Given the description of an element on the screen output the (x, y) to click on. 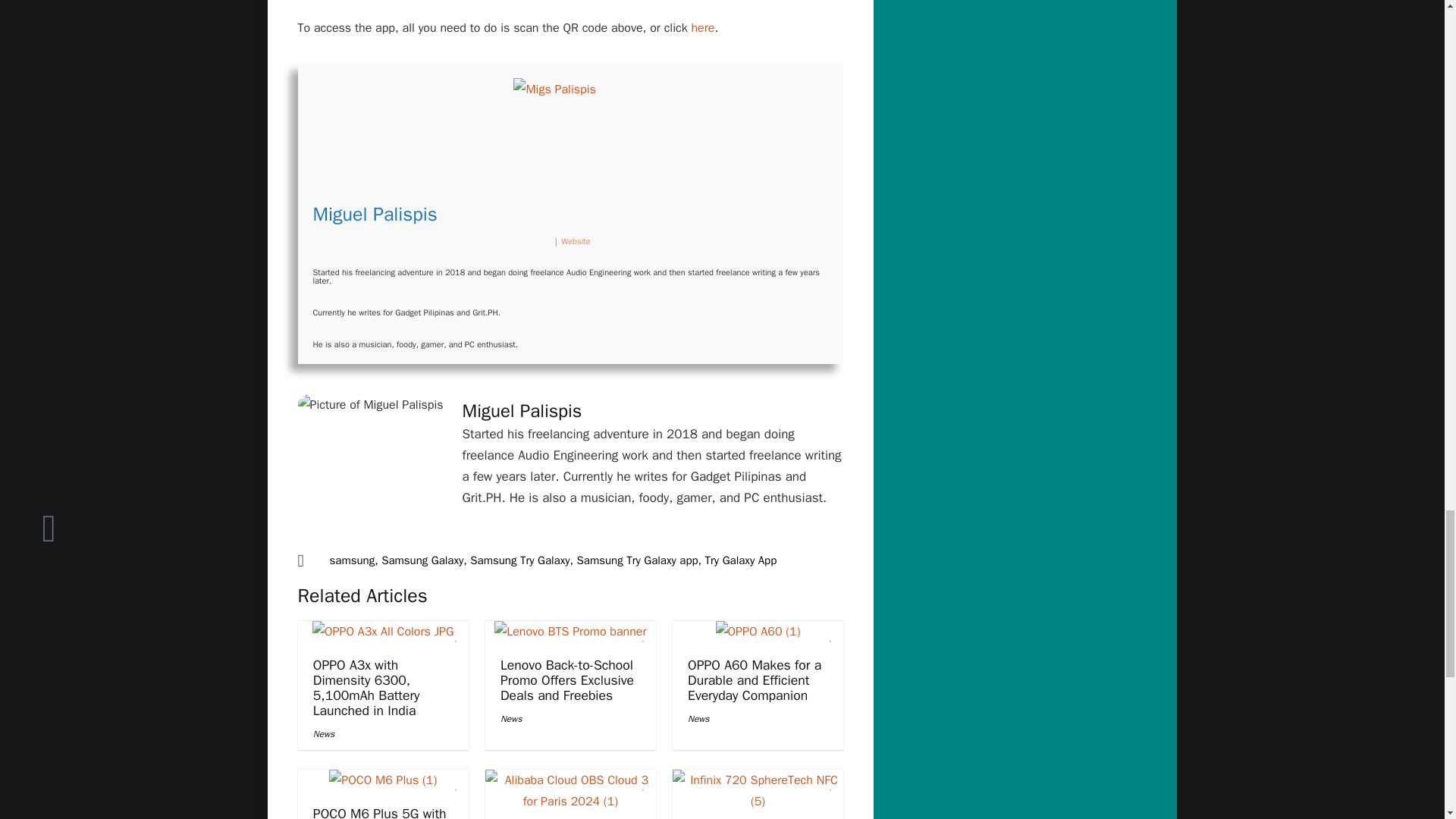
here (702, 28)
